Given the description of an element on the screen output the (x, y) to click on. 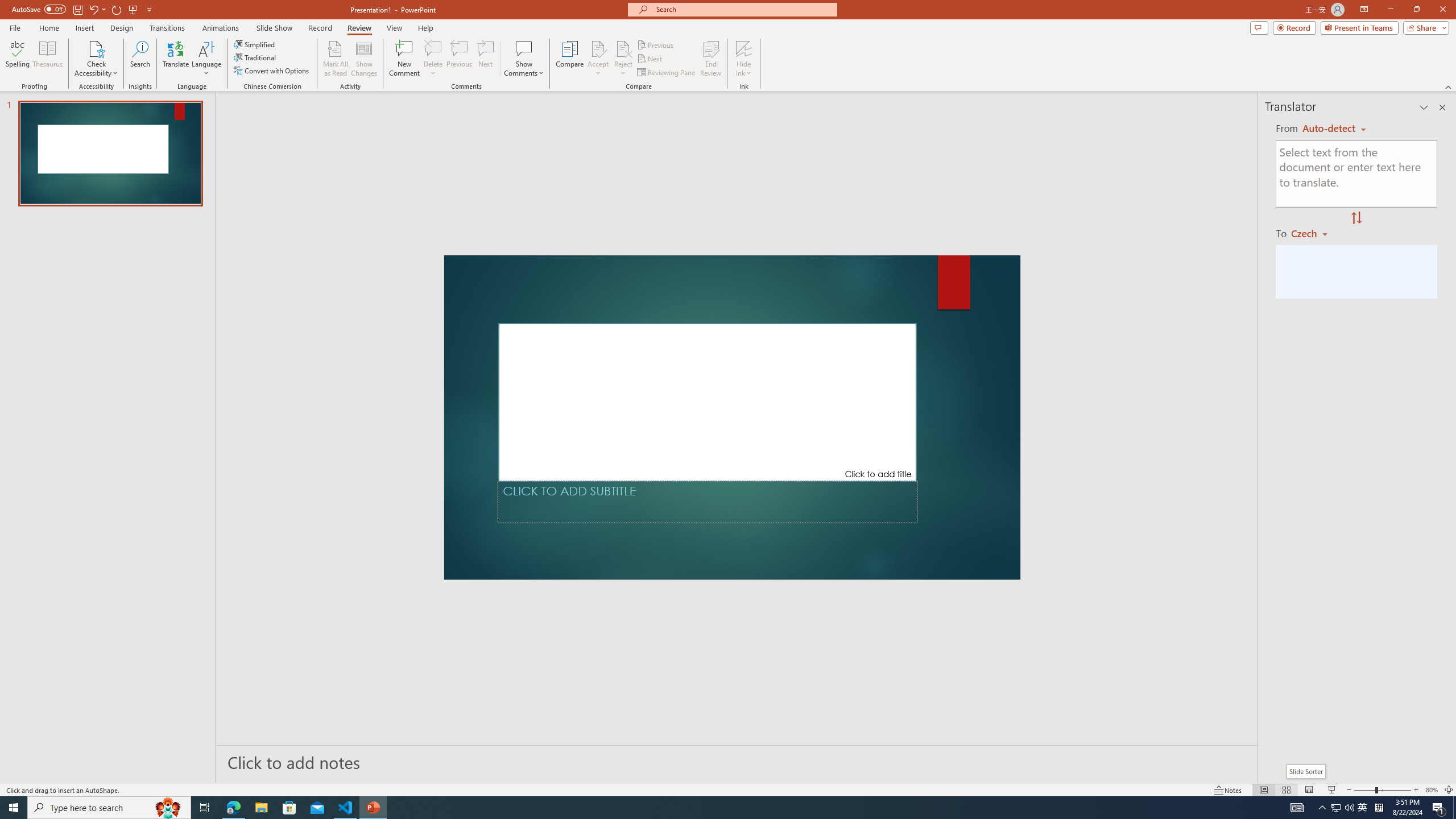
Convert with Options... (272, 69)
End Review (710, 58)
Swap "from" and "to" languages. (1355, 218)
Compare (569, 58)
